Given the description of an element on the screen output the (x, y) to click on. 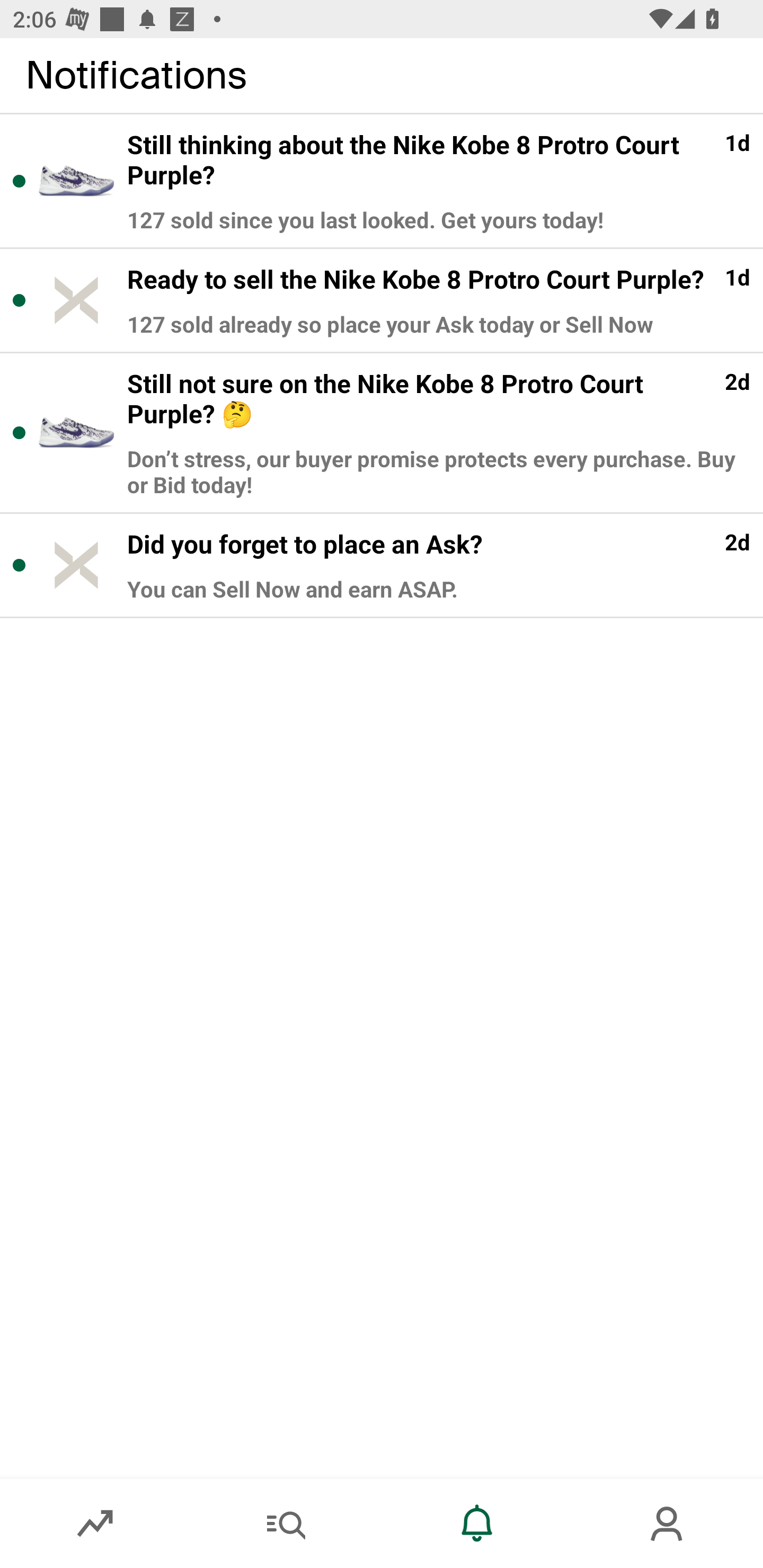
Market (95, 1523)
Search (285, 1523)
Account (667, 1523)
